Given the description of an element on the screen output the (x, y) to click on. 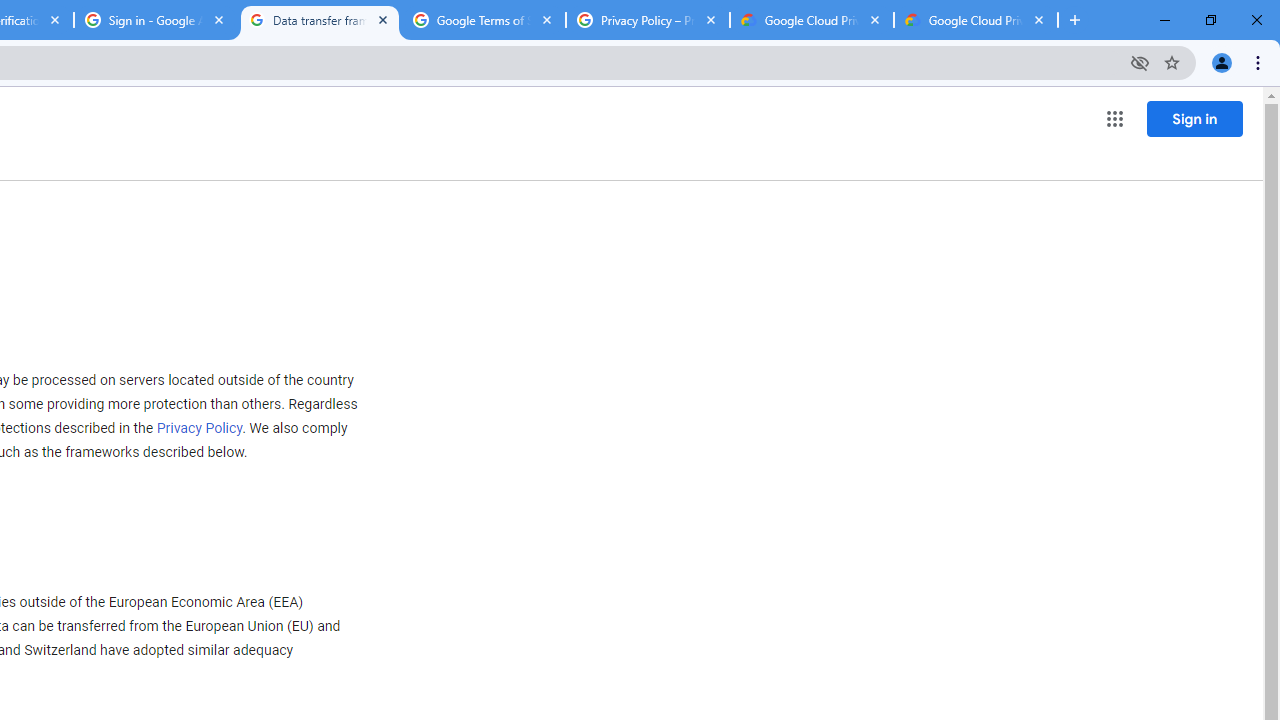
Google Cloud Privacy Notice (811, 20)
Sign in - Google Accounts (156, 20)
